Given the description of an element on the screen output the (x, y) to click on. 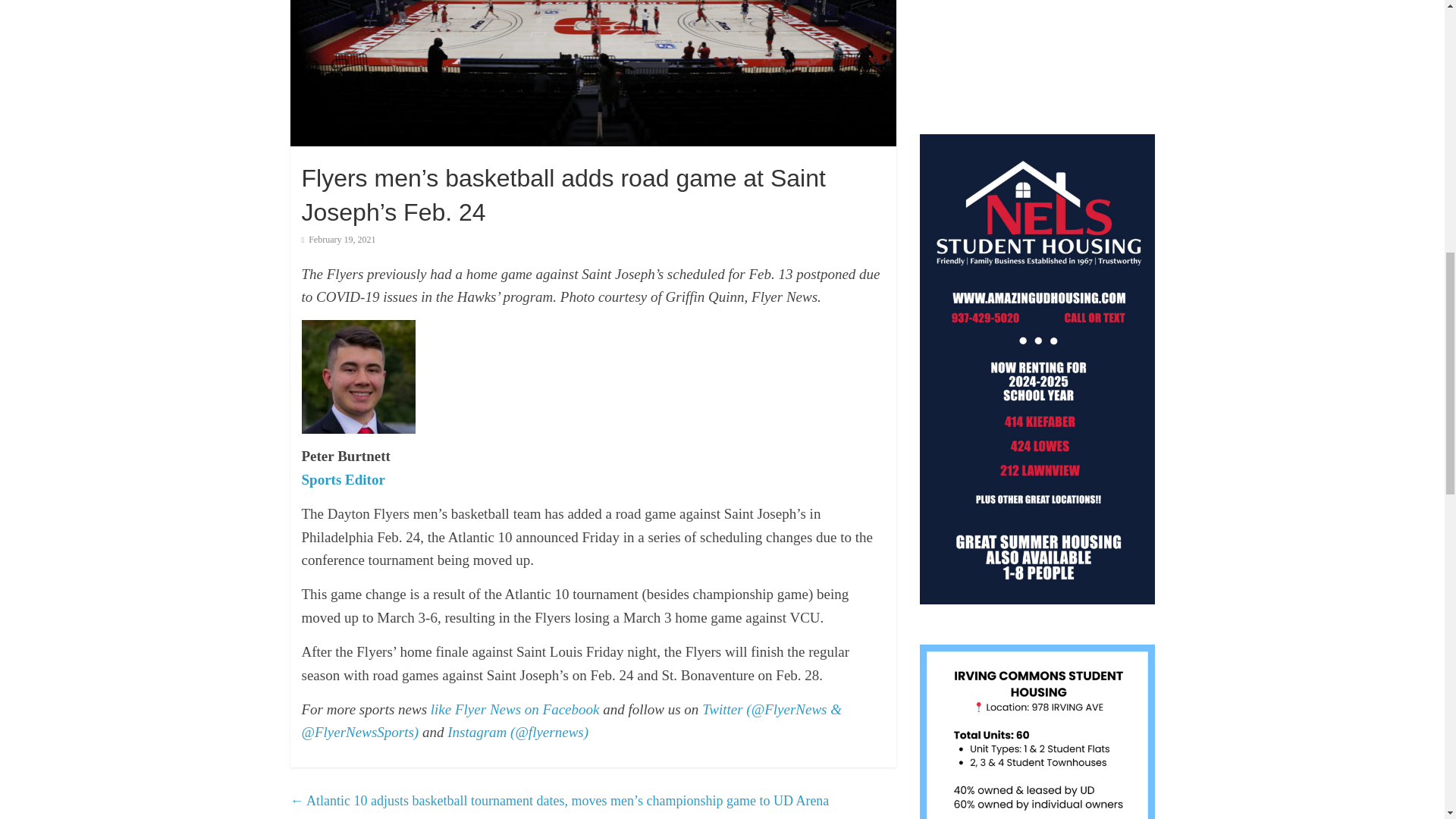
like Flyer News on Facebook (514, 709)
Sports Editor (343, 479)
11:25 PM (338, 239)
February 19, 2021 (338, 239)
